Given the description of an element on the screen output the (x, y) to click on. 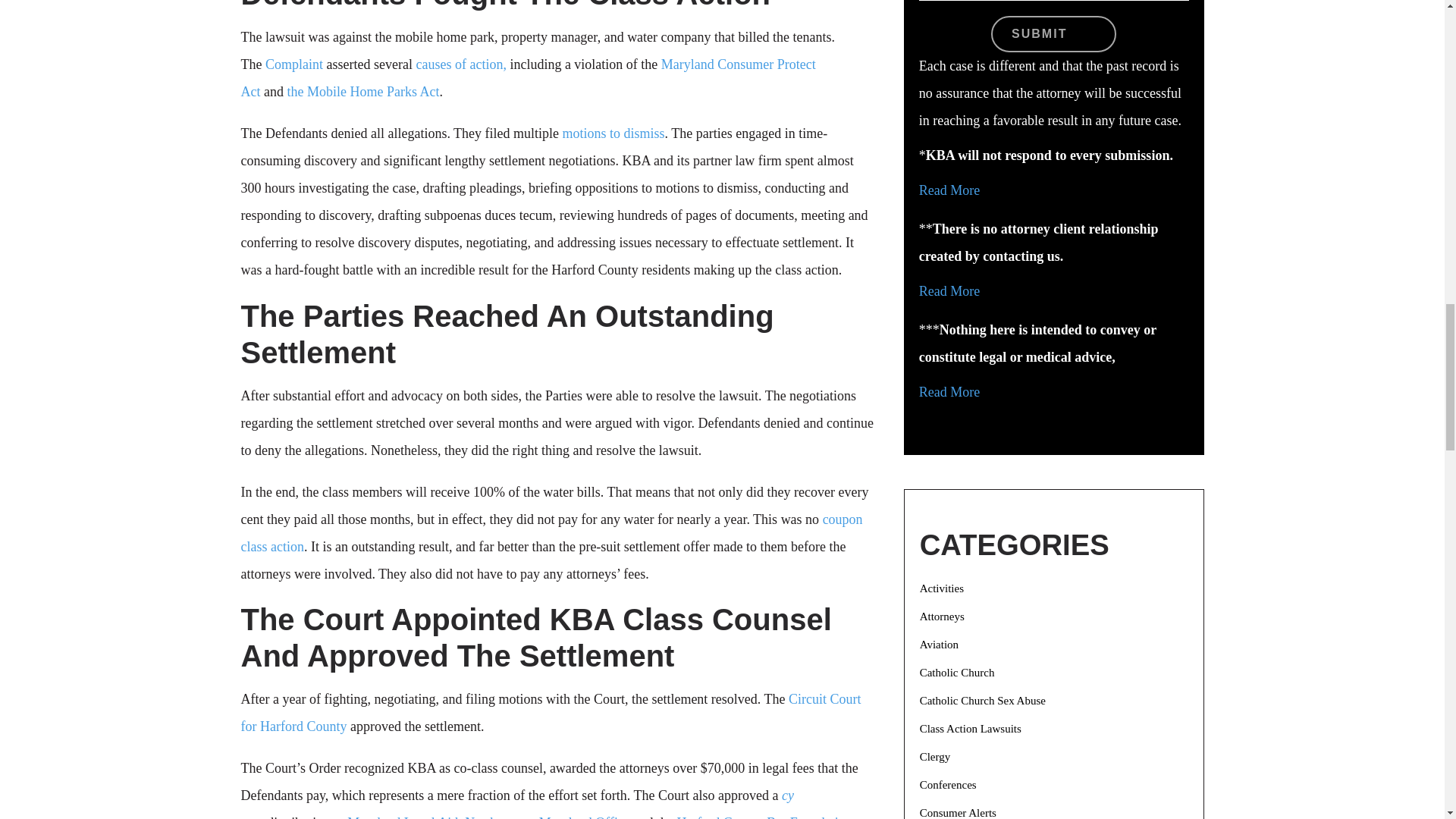
View all post filed under Class Action Lawsuits (971, 728)
View all post filed under Consumer Alerts (957, 812)
View all post filed under Catholic Church (957, 672)
View all post filed under Conferences (948, 784)
View all post filed under Aviation (939, 644)
Submit (1053, 33)
View all post filed under Activities (941, 588)
View all post filed under Clergy (935, 756)
View all post filed under Attorneys (941, 616)
View all post filed under Catholic Church Sex Abuse (982, 700)
